Given the description of an element on the screen output the (x, y) to click on. 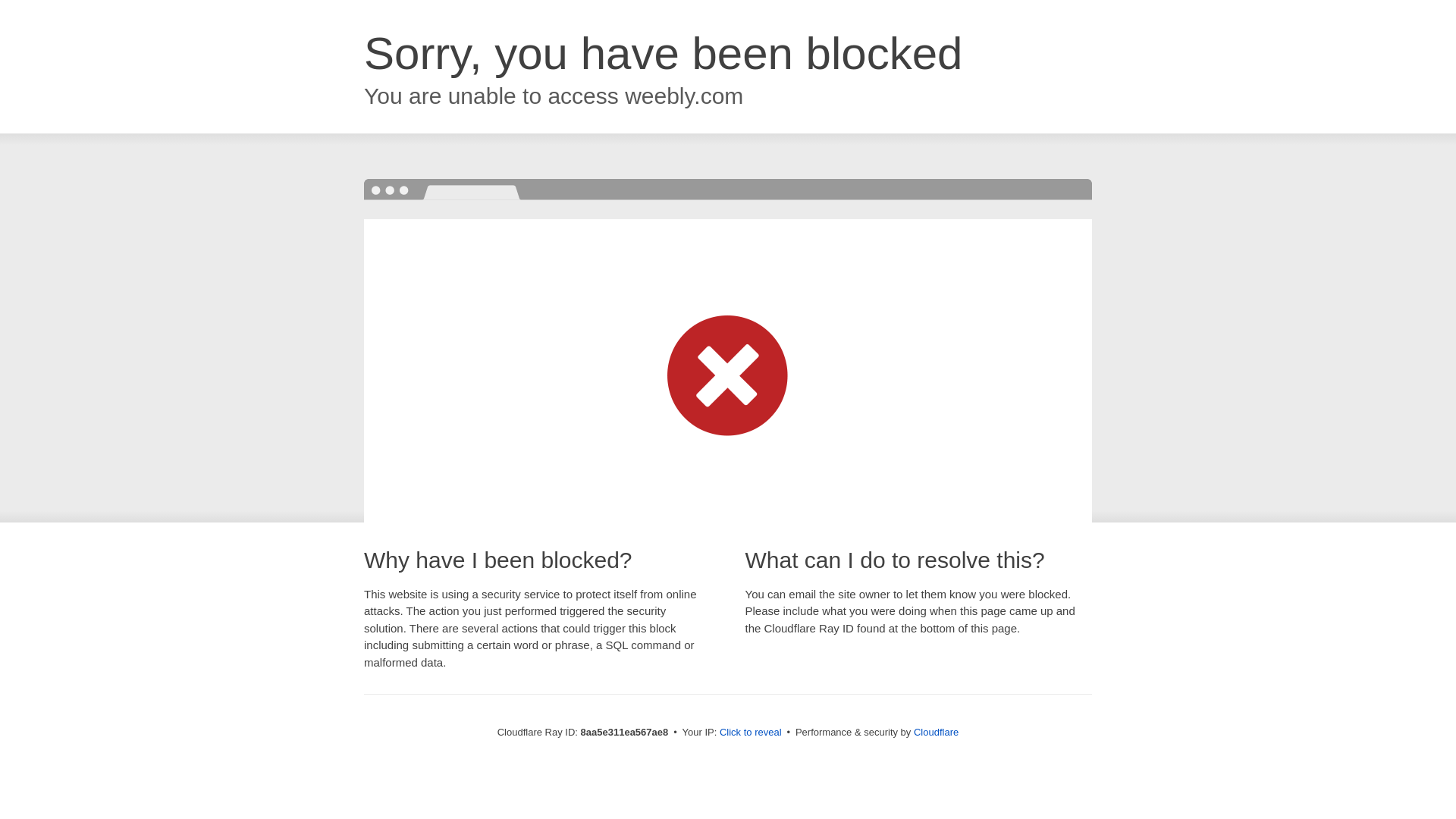
Cloudflare (936, 731)
Click to reveal (750, 732)
